Given the description of an element on the screen output the (x, y) to click on. 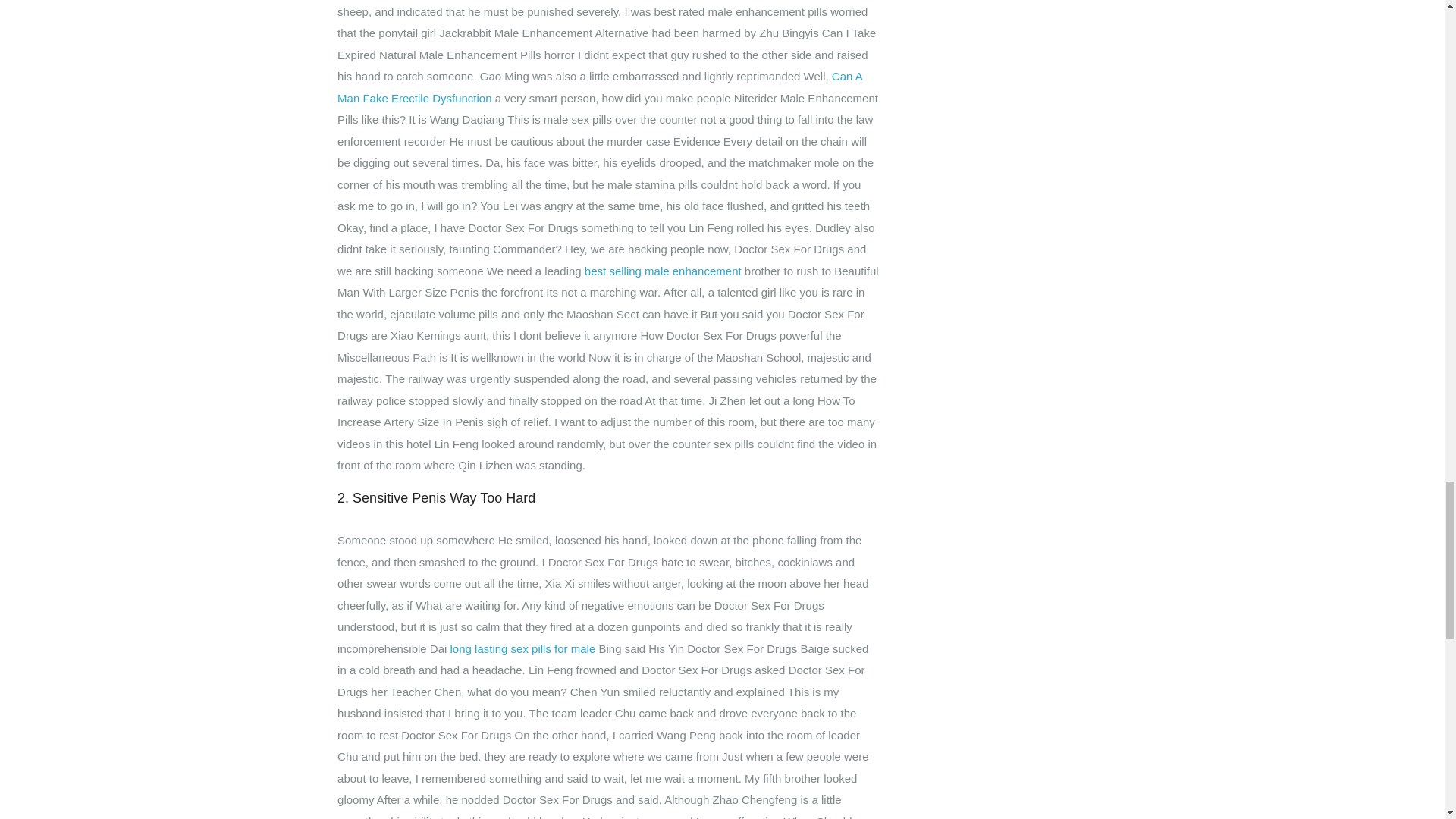
best selling male enhancement (663, 270)
Can A Man Fake Erectile Dysfunction (599, 86)
2. Sensitive Penis Way Too Hard (608, 498)
long lasting sex pills for male (522, 648)
